Given the description of an element on the screen output the (x, y) to click on. 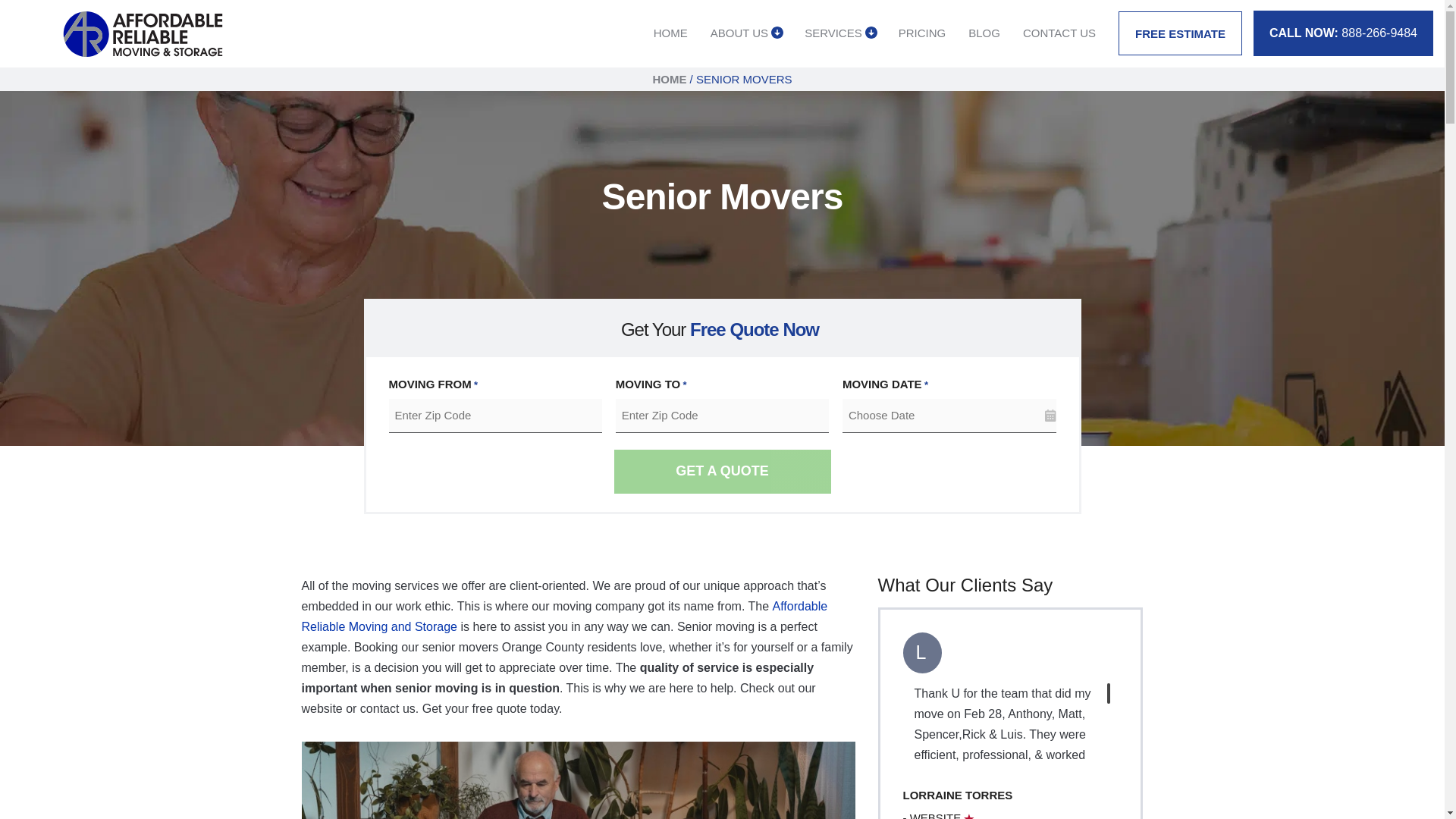
Get A Quote (722, 471)
CONTACT US (1059, 32)
SERVICES (833, 32)
ABOUT US (739, 32)
CALL NOW: 888-266-9484 (1342, 33)
Affordable Reliable Moving and Storage (564, 616)
HOME (668, 78)
FREE ESTIMATE (1179, 33)
PRICING (922, 32)
